Given the description of an element on the screen output the (x, y) to click on. 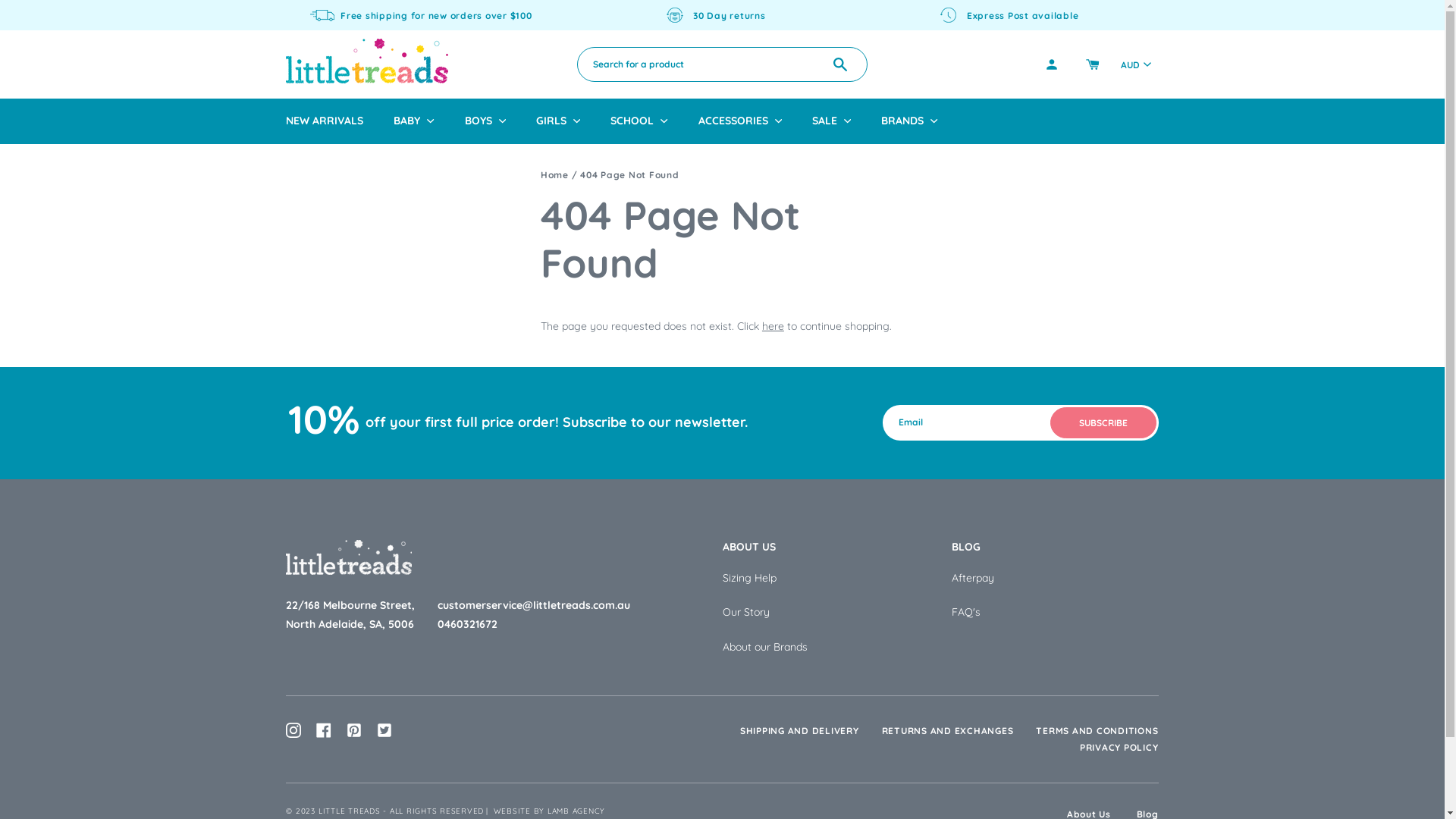
BLOG Element type: text (1054, 546)
Facebook Element type: text (323, 729)
Twitter Element type: text (384, 729)
Instagram Element type: text (293, 729)
FAQ's Element type: text (1054, 612)
Afterpay Element type: text (1054, 578)
PRIVACY POLICY Element type: text (1118, 747)
Total number of items in cart:
0 Element type: text (1092, 64)
TERMS AND CONDITIONS Element type: text (1096, 730)
LITTLE TREADS Element type: text (349, 810)
0460321672 Element type: text (579, 624)
SALE Element type: text (831, 121)
ABOUT US Element type: text (824, 546)
here Element type: text (773, 325)
ACCESSORIES Element type: text (740, 121)
Subscribe Element type: text (1103, 422)
customerservice@littletreads.com.au Element type: text (579, 605)
BRANDS Element type: text (909, 121)
About our Brands Element type: text (824, 647)
SHIPPING AND DELIVERY Element type: text (799, 730)
Pinterest Element type: text (353, 729)
AUD Element type: text (1135, 63)
Sizing Help Element type: text (824, 578)
GIRLS Element type: text (557, 121)
NEW ARRIVALS Element type: text (324, 121)
SCHOOL Element type: text (638, 121)
WEBSITE BY LAMB AGENCY Element type: text (549, 810)
RETURNS AND EXCHANGES Element type: text (947, 730)
BOYS Element type: text (484, 121)
Our Story Element type: text (824, 612)
BABY Element type: text (413, 121)
Home Element type: text (554, 174)
